Given the description of an element on the screen output the (x, y) to click on. 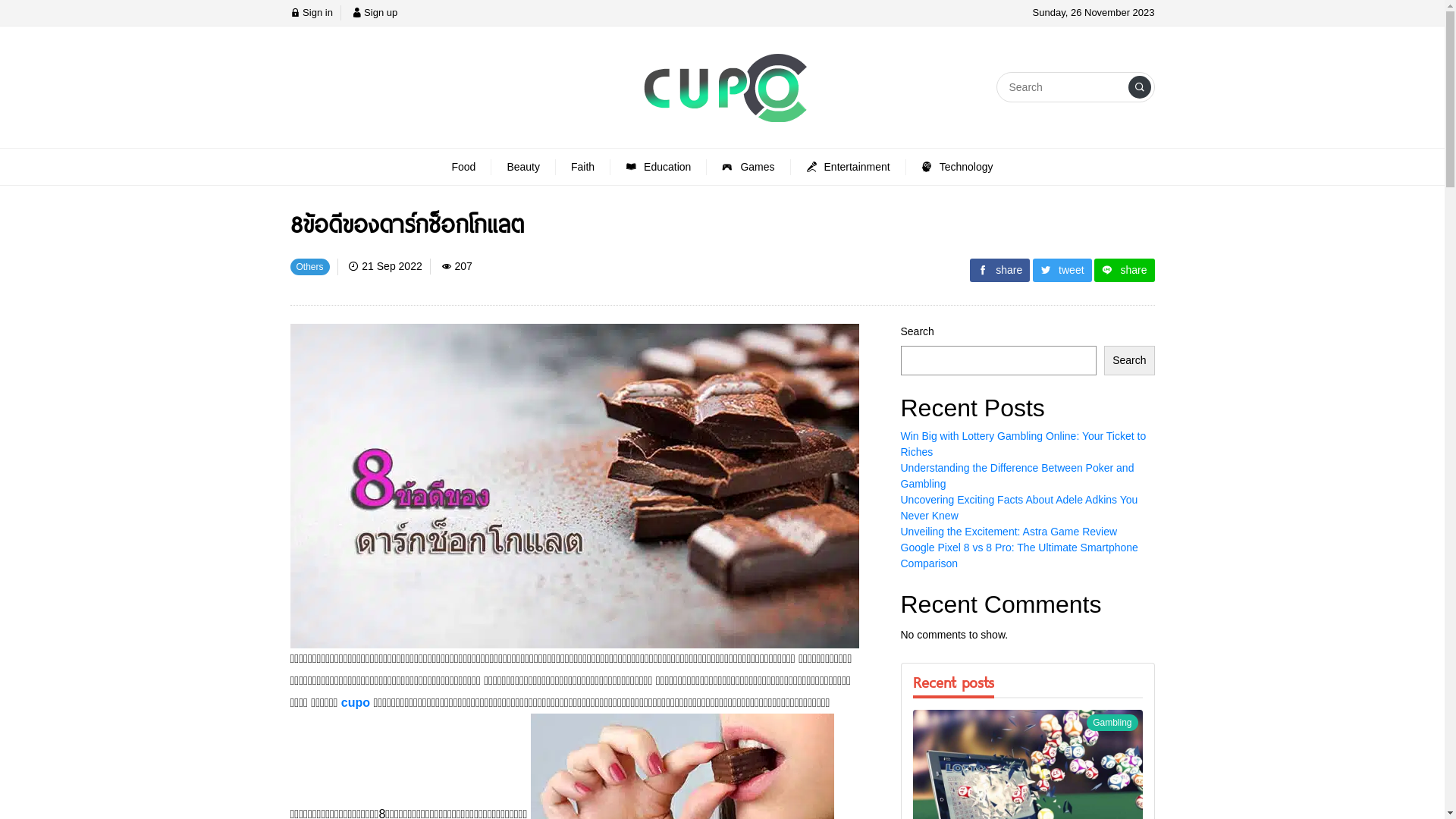
cupo Element type: text (357, 702)
Gambling Element type: text (1111, 721)
Understanding the Difference Between Poker and Gambling Element type: text (1017, 475)
Technology Element type: text (957, 166)
Sign up Element type: text (374, 12)
Games Element type: text (748, 166)
share Element type: text (999, 270)
Others Element type: text (309, 266)
share Element type: text (1124, 270)
Faith Element type: text (582, 166)
tweet Element type: text (1061, 270)
Win Big with Lottery Gambling Online: Your Ticket to Riches Element type: text (1023, 443)
Unveiling the Excitement: Astra Game Review Element type: text (1008, 531)
Google Pixel 8 vs 8 Pro: The Ultimate Smartphone Comparison Element type: text (1019, 555)
Search Element type: text (1129, 360)
Sign in Element type: text (310, 12)
Entertainment Element type: text (848, 166)
Food Element type: text (463, 166)
Beauty Element type: text (523, 166)
Education Element type: text (658, 166)
Uncovering Exciting Facts About Adele Adkins You Never Knew Element type: text (1019, 507)
